Given the description of an element on the screen output the (x, y) to click on. 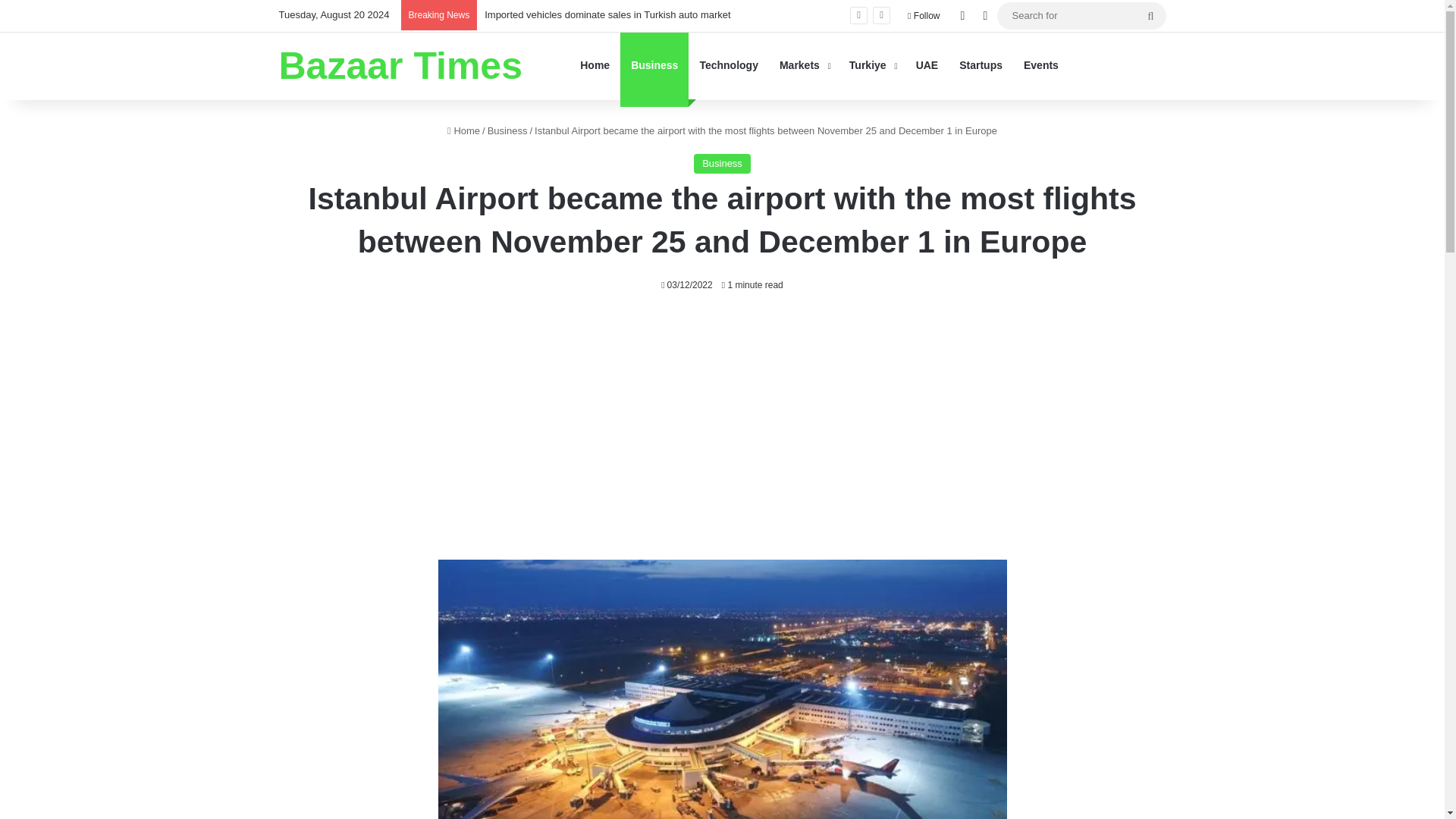
Turkiye (871, 65)
Technology (728, 65)
Home (463, 130)
Search for (1150, 15)
Business (722, 163)
Imported vehicles dominate sales in Turkish auto market (607, 14)
Search for (1080, 15)
Business (507, 130)
Follow (923, 15)
Business (654, 65)
